Given the description of an element on the screen output the (x, y) to click on. 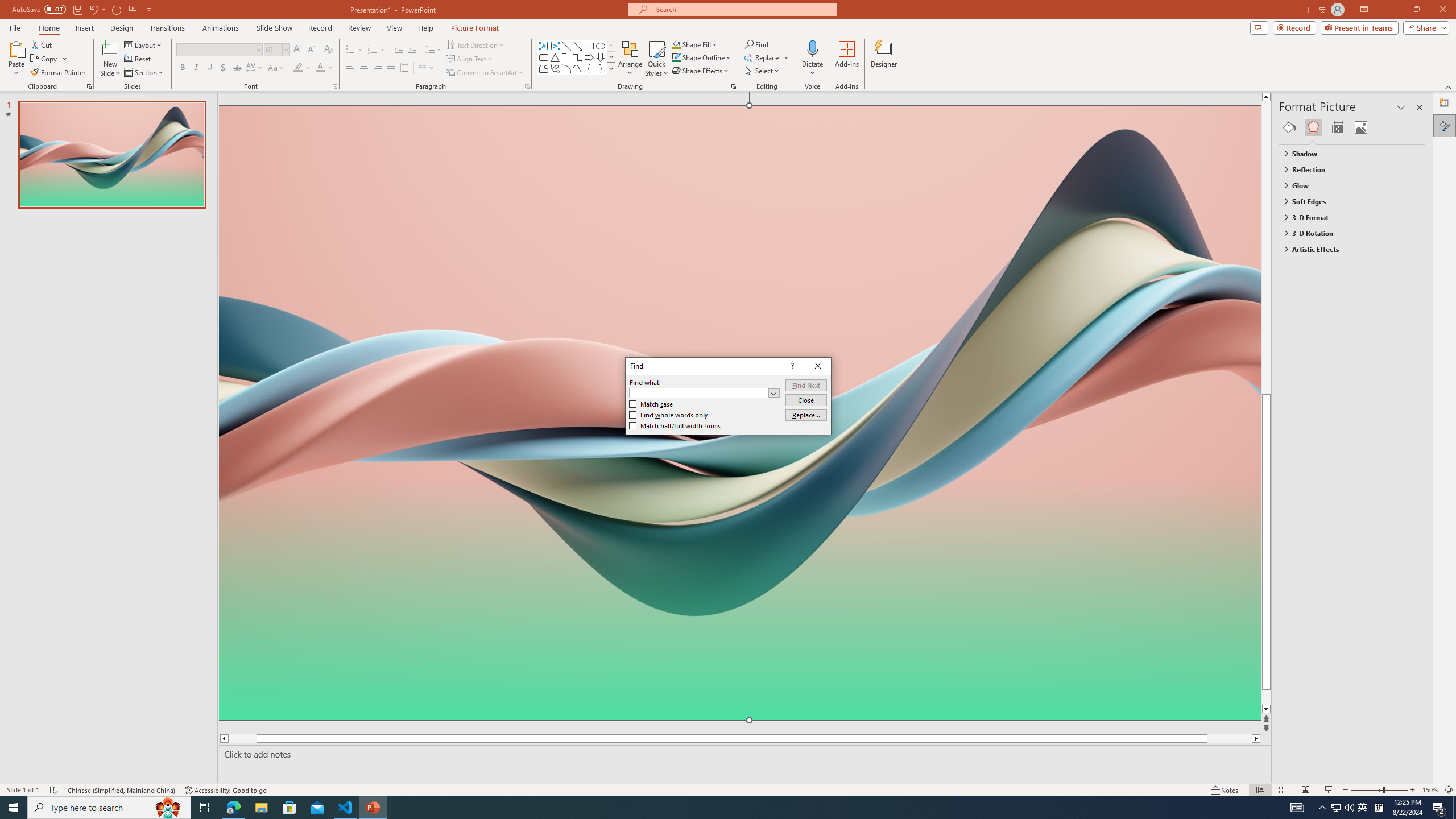
Justify (390, 67)
Save (77, 9)
Shape Fill (694, 44)
Replace... (805, 414)
Line (566, 45)
Cut (42, 44)
Reset (138, 58)
Class: NetUIScrollBar (1420, 460)
Zoom Out (1367, 790)
Match half/full width forms (675, 425)
Reflection (1347, 169)
3-D Rotation (1347, 232)
Curve (577, 68)
Spell Check No Errors (54, 790)
Align Right (377, 67)
